Given the description of an element on the screen output the (x, y) to click on. 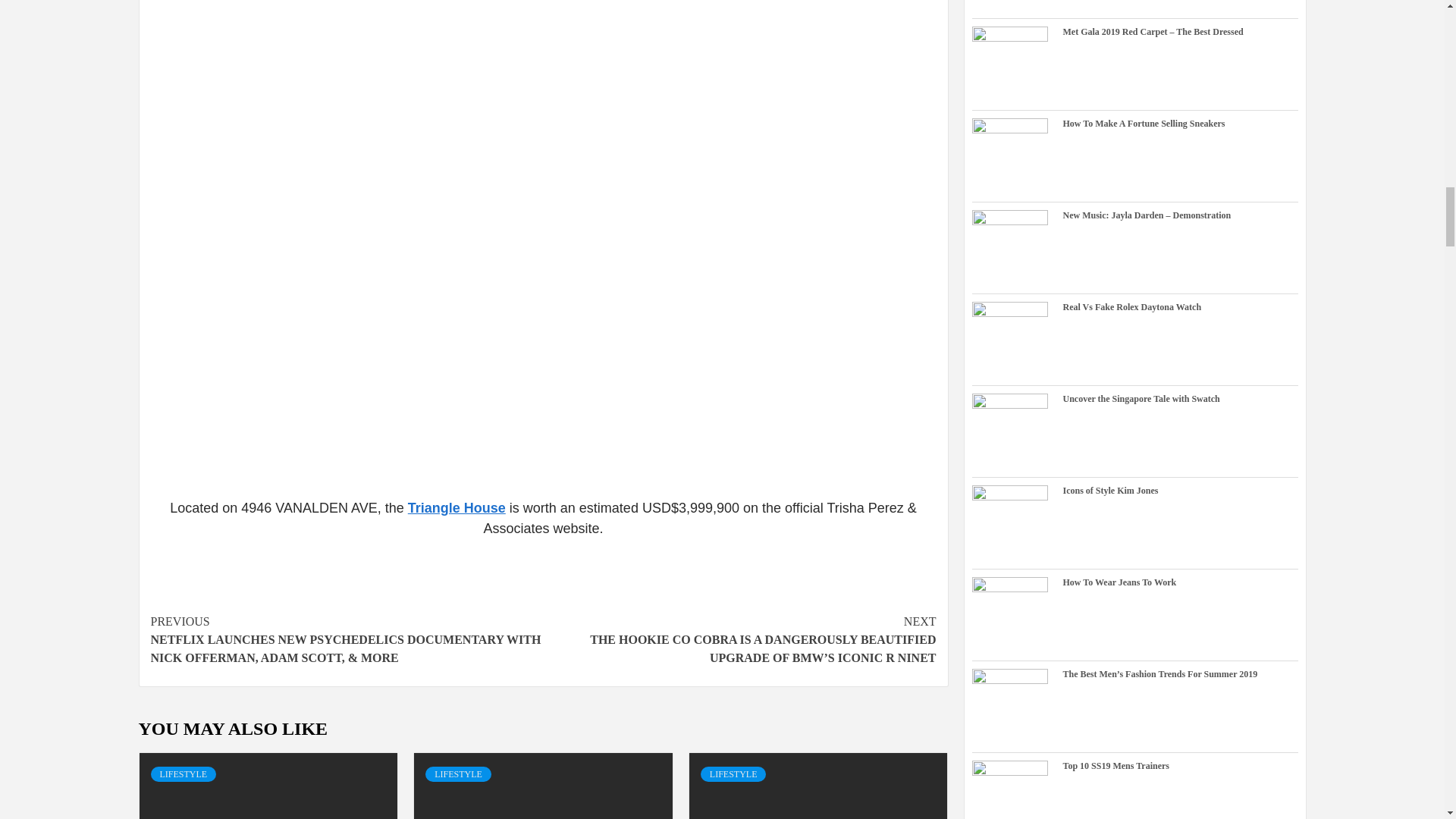
Triangle House (456, 507)
LIFESTYLE (182, 774)
LIFESTYLE (458, 774)
